Given the description of an element on the screen output the (x, y) to click on. 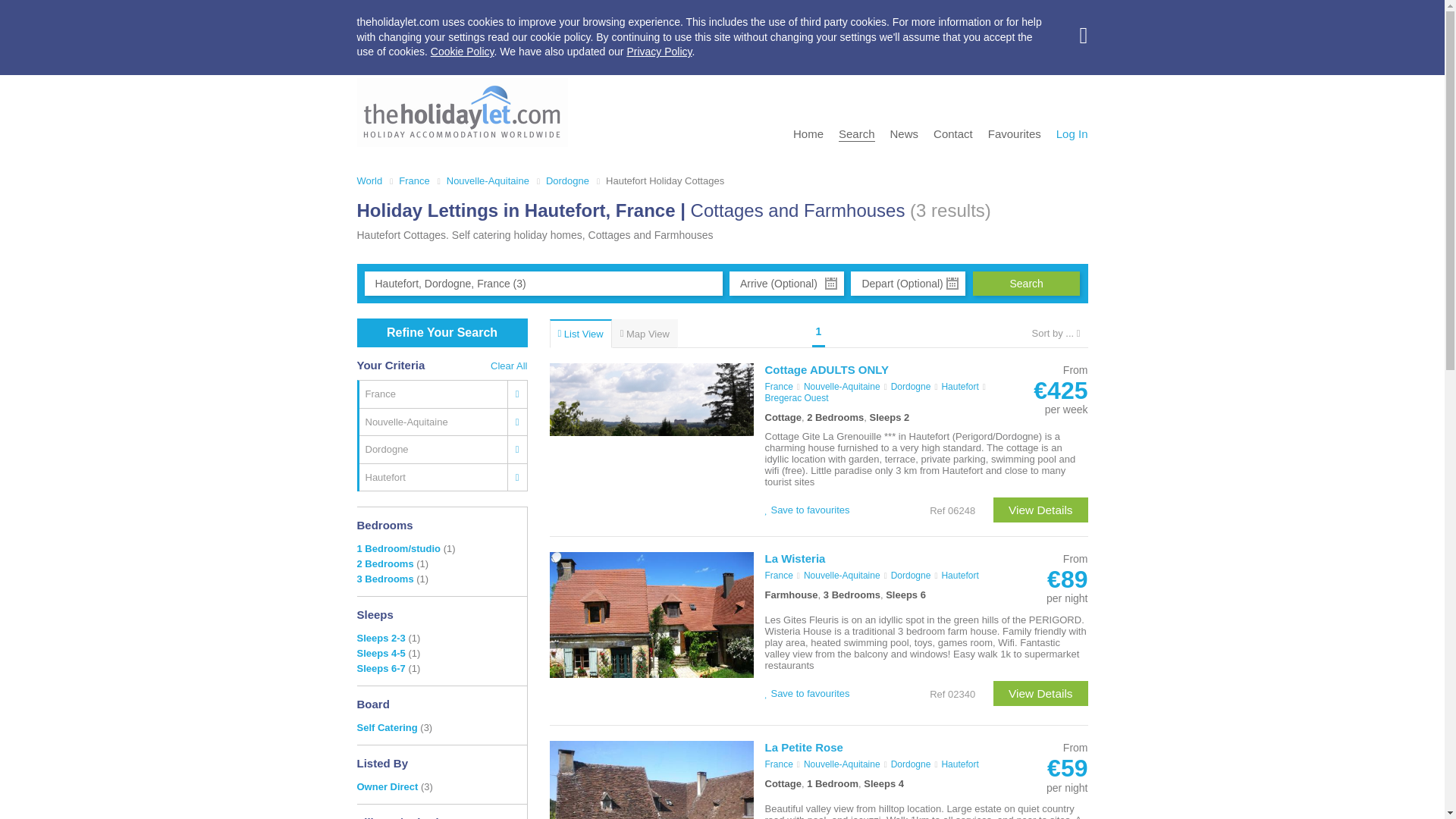
Cottage ADULTS ONLY (651, 441)
Search (1026, 283)
Cookie Policy (462, 51)
Holiday lettings, villas, apartments and cottages to let (461, 112)
La Wisteria (651, 631)
Home (808, 133)
Search (856, 134)
Search (1026, 283)
Privacy Policy (658, 51)
La Petite Rose (651, 780)
